Given the description of an element on the screen output the (x, y) to click on. 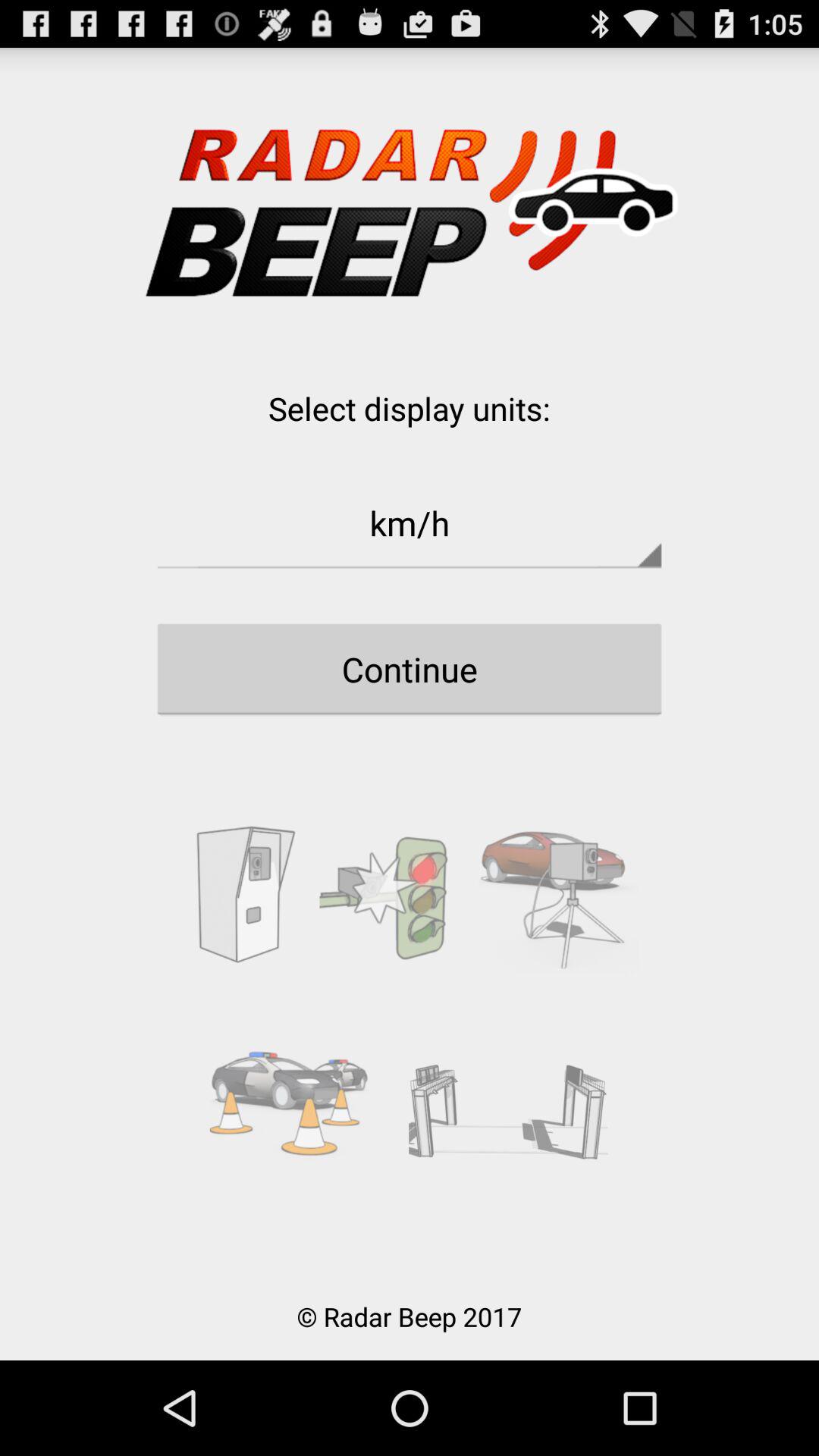
open the continue button (409, 668)
